Given the description of an element on the screen output the (x, y) to click on. 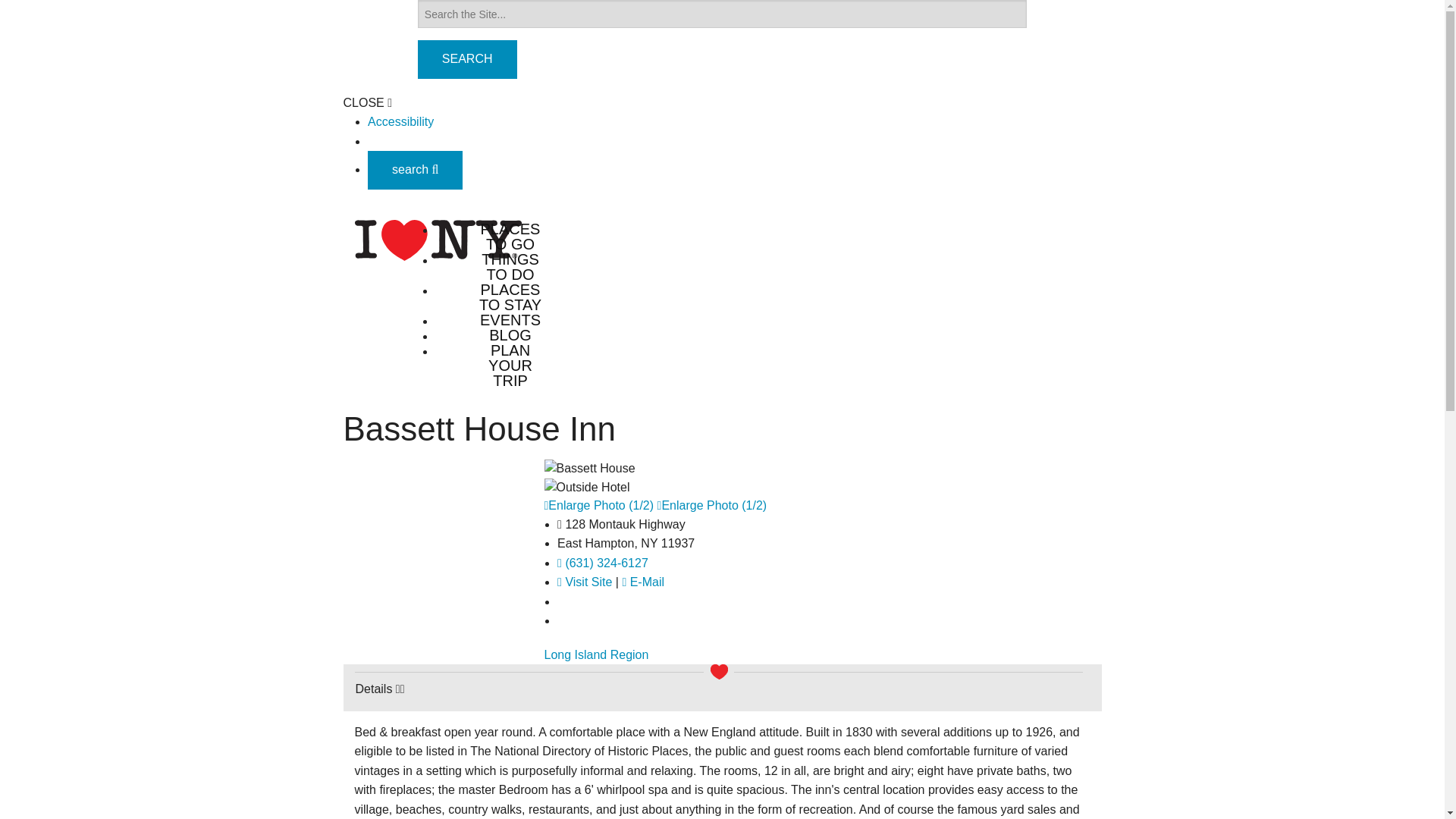
search (415, 169)
PLACES TO GO (510, 236)
search (415, 169)
SEARCH (466, 59)
Accessibility (400, 121)
